Given the description of an element on the screen output the (x, y) to click on. 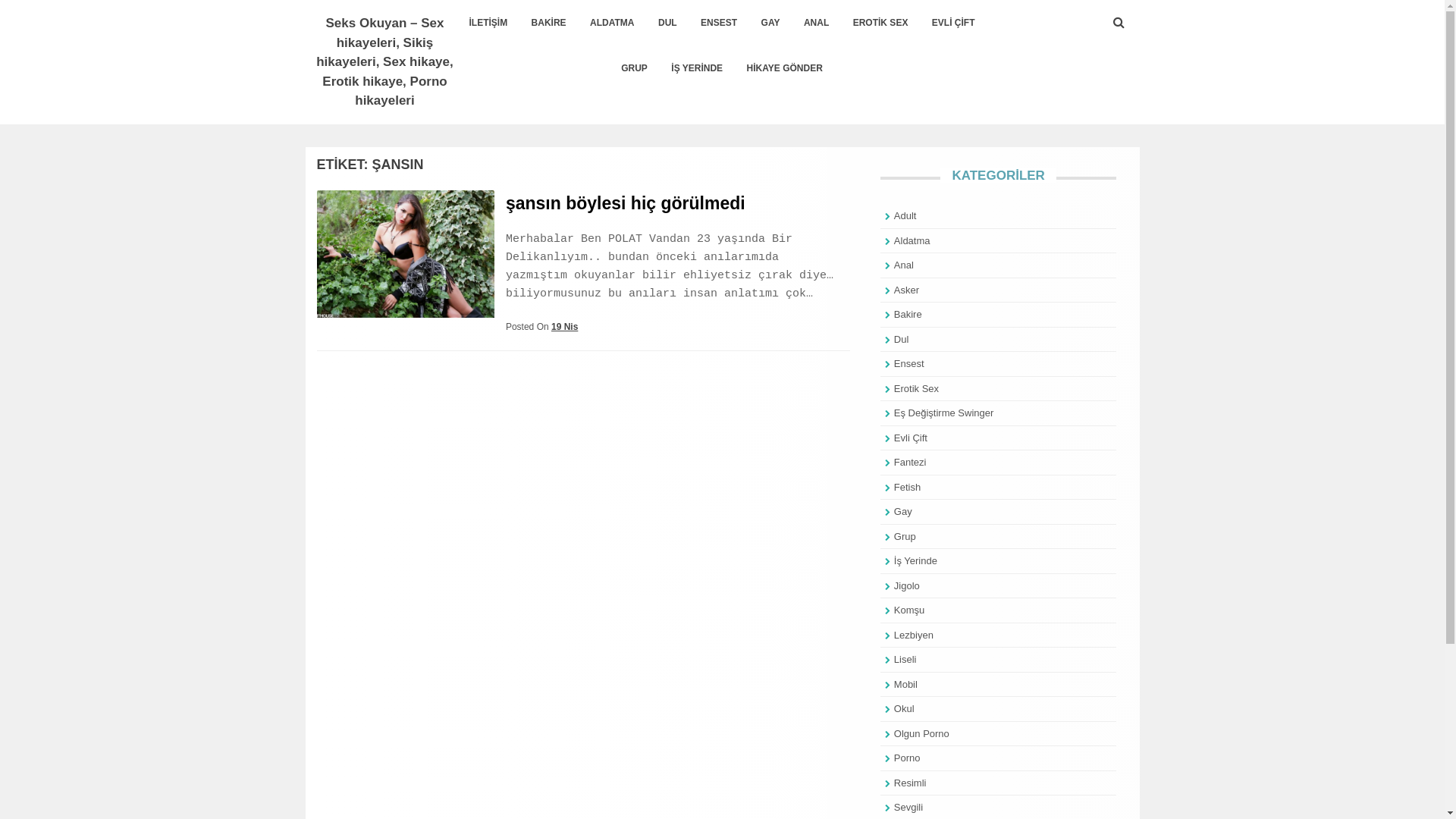
Gay Element type: text (903, 511)
BAKIRE Element type: text (548, 22)
Adult Element type: text (905, 215)
Sevgili Element type: text (908, 806)
Asker Element type: text (906, 288)
ALDATMA Element type: text (611, 22)
DUL Element type: text (667, 22)
EROTIK SEX Element type: text (880, 22)
Erotik Sex Element type: text (916, 387)
Aldatma Element type: text (912, 240)
19 Nis Element type: text (564, 326)
Fantezi Element type: text (910, 461)
Fetish Element type: text (907, 486)
Dul Element type: text (901, 339)
Anal Element type: text (903, 264)
Ensest Element type: text (909, 363)
Bakire Element type: text (908, 314)
Lezbiyen Element type: text (913, 634)
Liseli Element type: text (905, 659)
Okul Element type: text (904, 708)
Resimli Element type: text (910, 781)
GAY Element type: text (770, 22)
Mobil Element type: text (905, 683)
Olgun Porno Element type: text (921, 733)
Grup Element type: text (905, 536)
ANAL Element type: text (815, 22)
Jigolo Element type: text (906, 584)
GRUP Element type: text (634, 68)
Porno Element type: text (907, 757)
ENSEST Element type: text (718, 22)
